Given the description of an element on the screen output the (x, y) to click on. 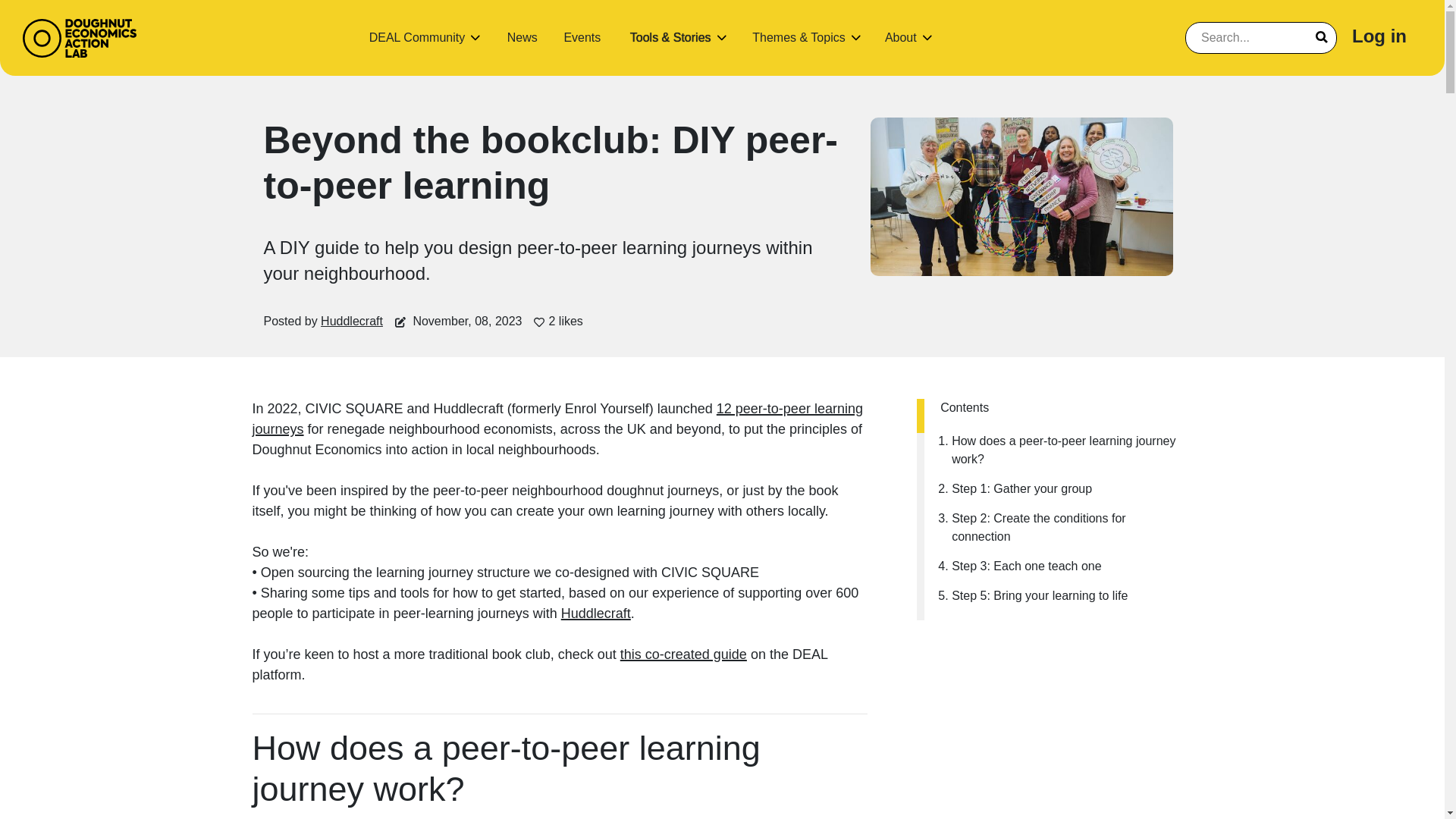
DEAL Community (416, 37)
Step 3: Each one teach one (1064, 566)
News (522, 37)
Step 1: Gather your group (1064, 488)
About (900, 37)
Step 2: Create the conditions for connection (1064, 527)
Themes (798, 37)
How does a peer-to-peer learning journey work? (1064, 450)
Events (582, 37)
Step 5: Bring your learning to life (1064, 596)
DEAL Community (416, 37)
